Given the description of an element on the screen output the (x, y) to click on. 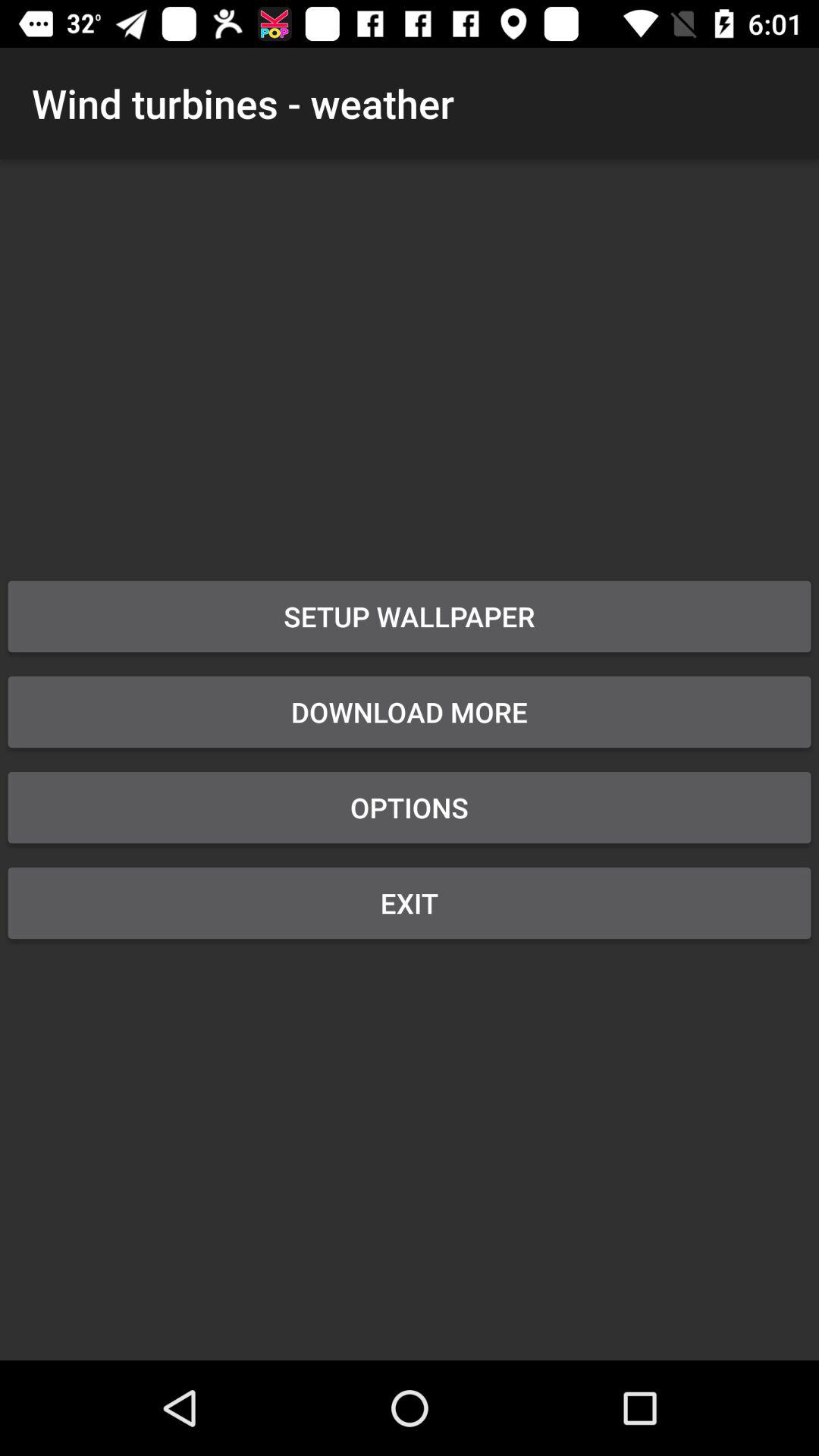
turn on the options (409, 807)
